Given the description of an element on the screen output the (x, y) to click on. 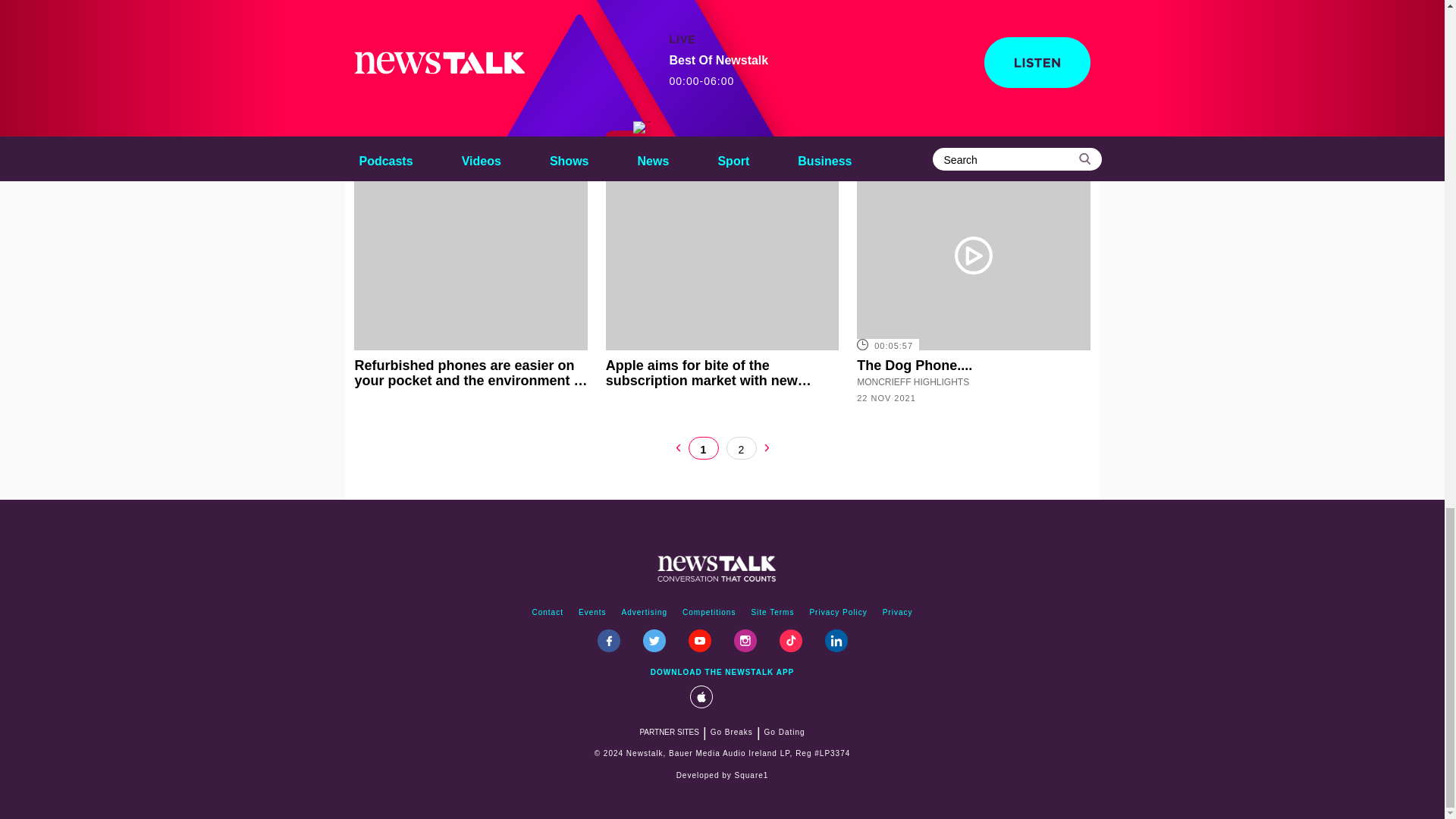
1 (703, 447)
advertising (644, 612)
2 (741, 447)
competitions (708, 612)
Phone seizures in Irish prisons double in five years (973, 71)
site terms (772, 612)
contact (547, 612)
Events (592, 612)
Privacy (897, 612)
events (592, 612)
Contact (547, 612)
Privacy Policy (838, 612)
